Given the description of an element on the screen output the (x, y) to click on. 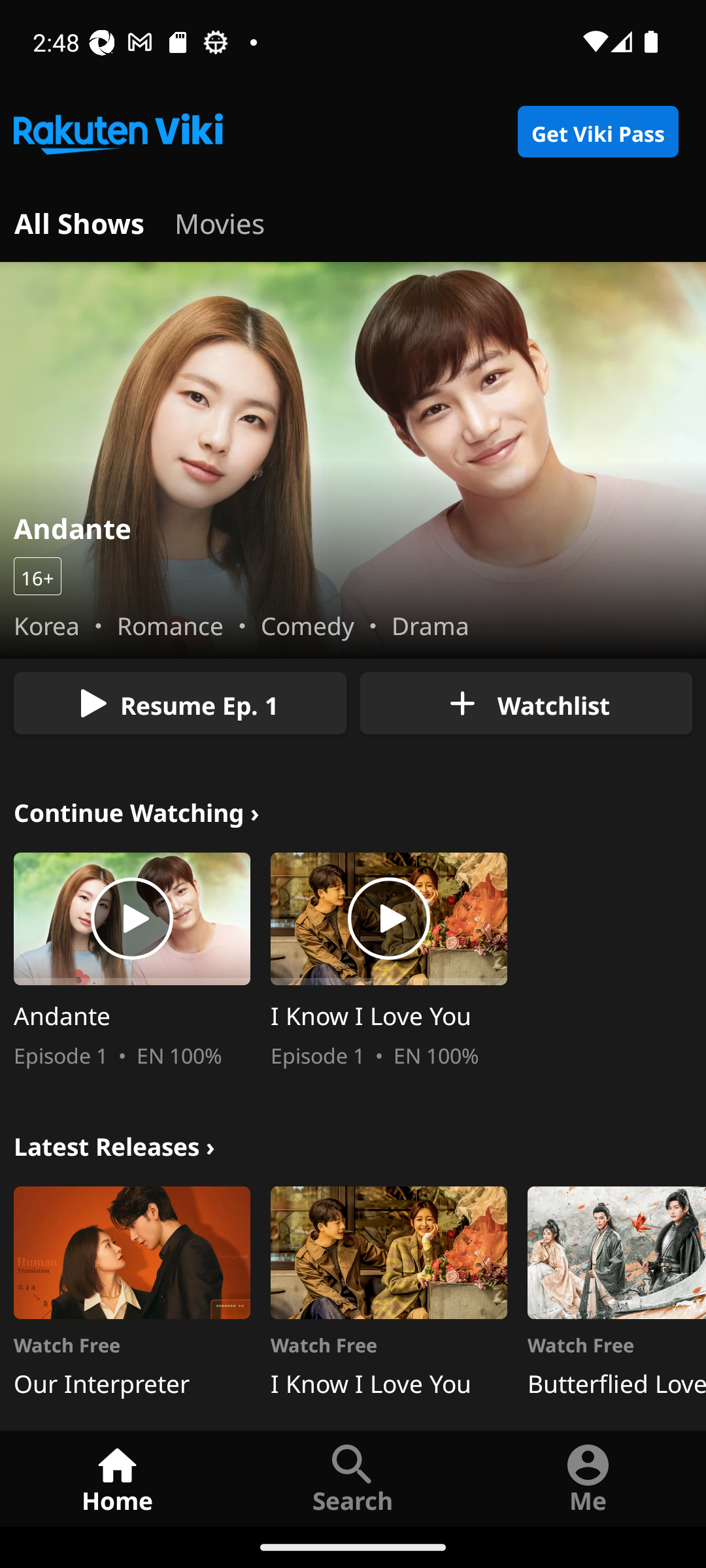
Get Viki Pass (597, 131)
home_tab_movies Movies (219, 220)
Resume Ep. 1 home_billboard_play_button (179, 702)
Watchlist home_billboard_add_to_watchlist_button (526, 702)
Continue Watching › continue_watching (136, 809)
Latest Releases › all_new (114, 1143)
Search (352, 1478)
Me (588, 1478)
